Given the description of an element on the screen output the (x, y) to click on. 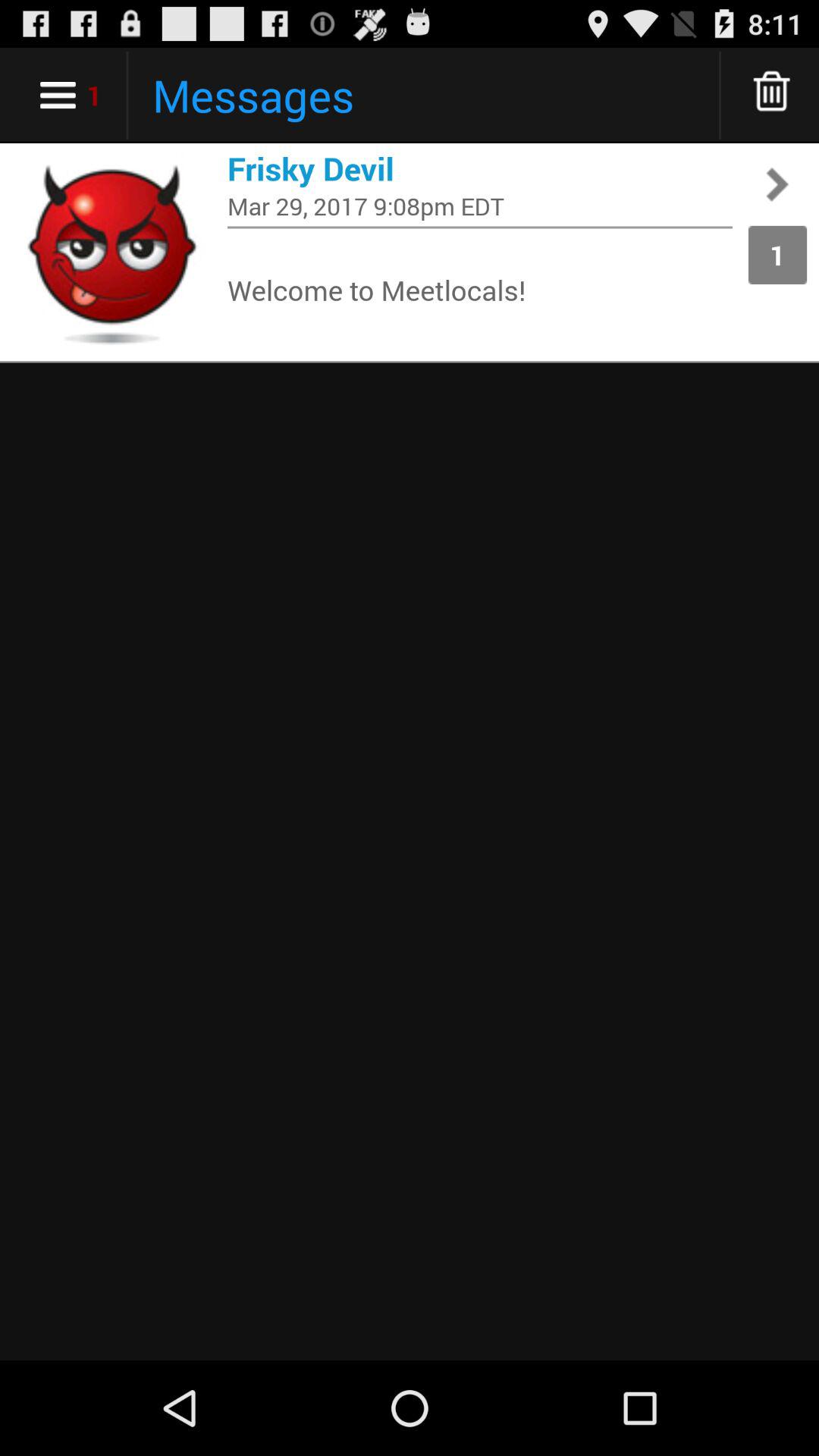
press mar 29 2017 item (479, 205)
